Given the description of an element on the screen output the (x, y) to click on. 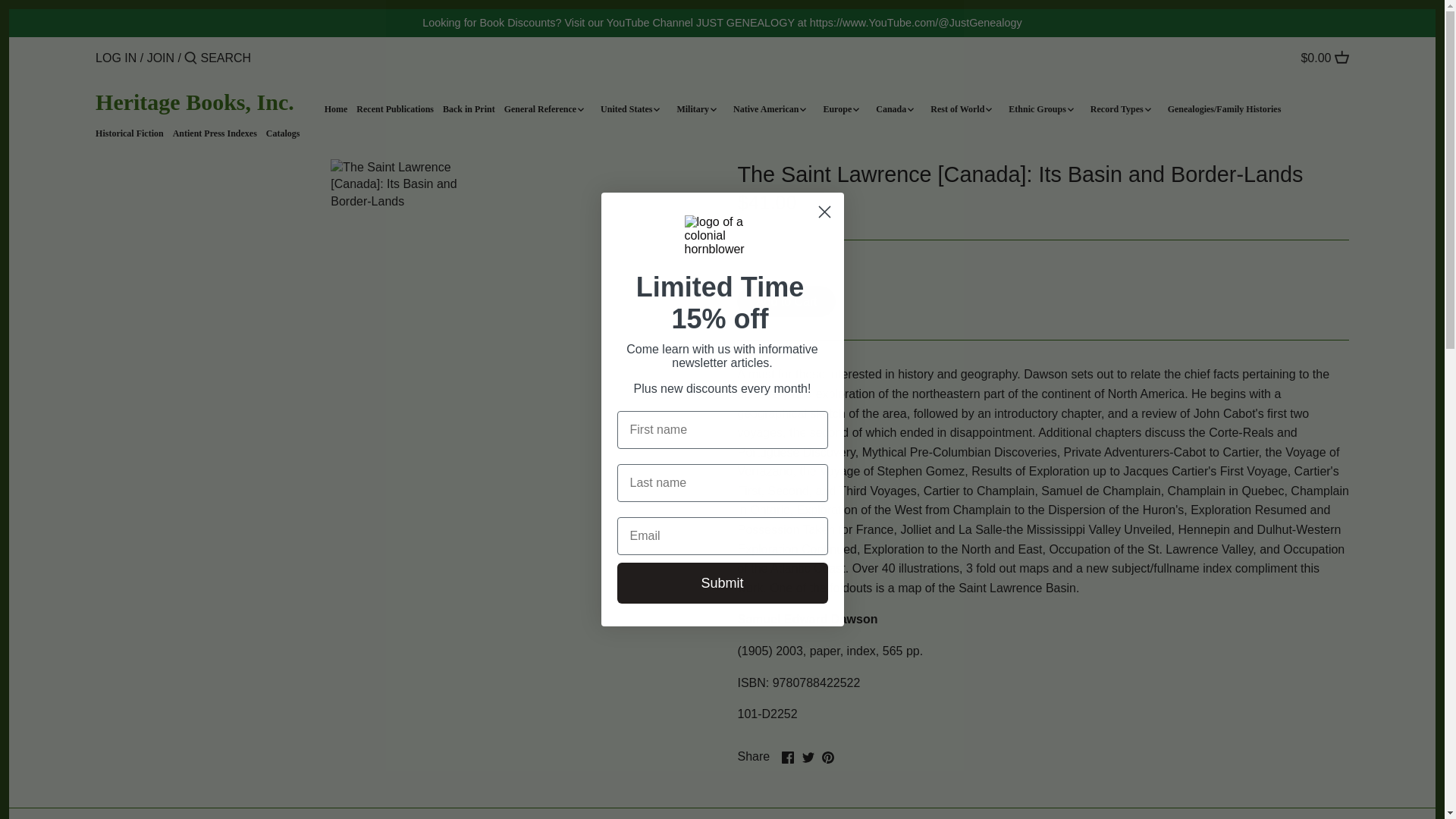
JOIN (160, 57)
Heritage Books, Inc. (195, 101)
Home (340, 110)
Back in Print (472, 110)
United States (630, 110)
General Reference (544, 110)
Facebook (787, 757)
LOG IN (116, 57)
Twitter (807, 757)
Recent Publications (399, 110)
